Given the description of an element on the screen output the (x, y) to click on. 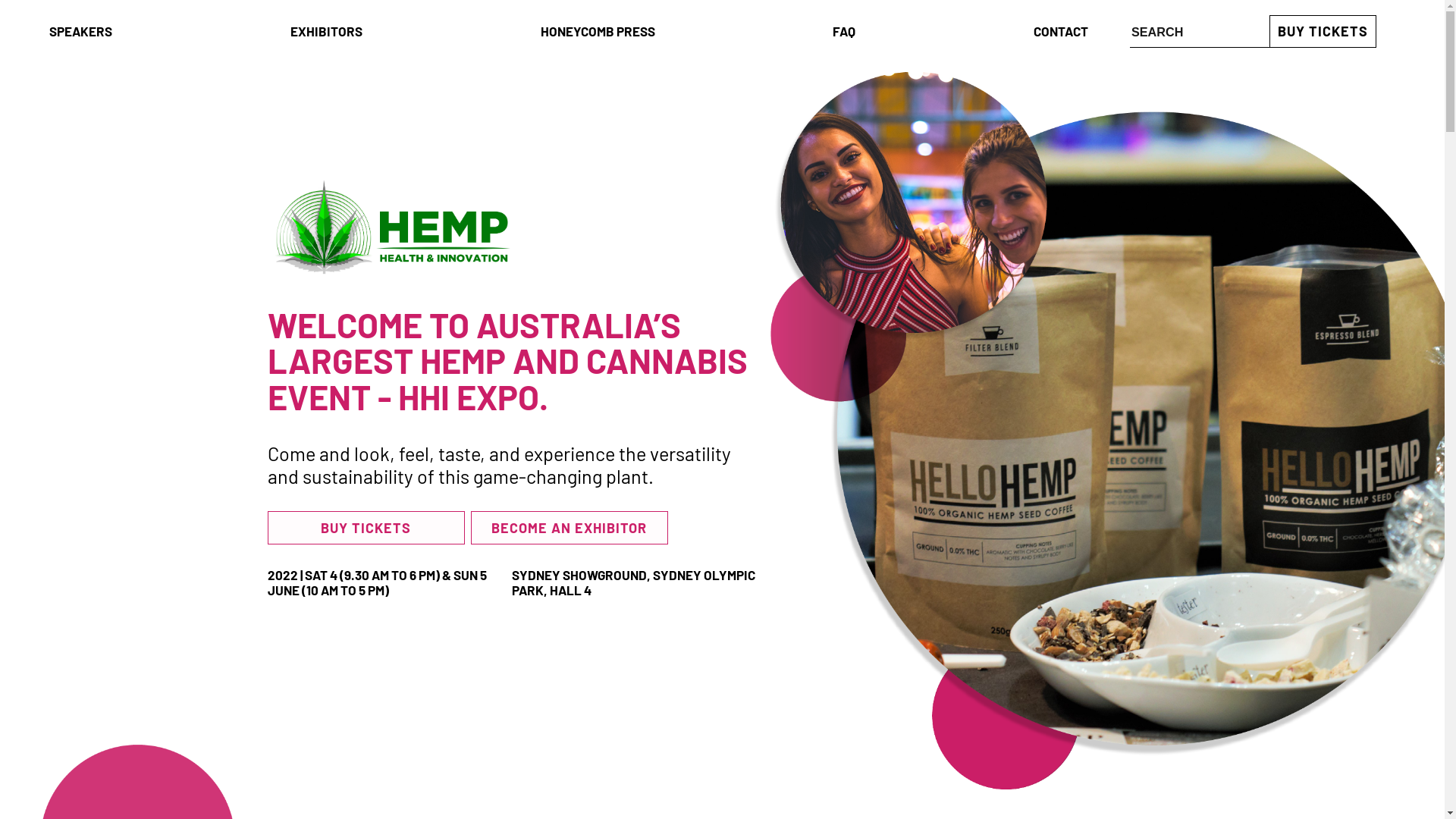
FAQ Element type: text (843, 31)
BECOME AN EXHIBITOR Element type: text (568, 527)
HONEYCOMB PRESS Element type: text (596, 31)
SPEAKERS Element type: text (80, 31)
CONTACT Element type: text (1060, 31)
BUY TICKETS Element type: text (1322, 31)
BUY TICKETS Element type: text (365, 527)
EXHIBITORS Element type: text (326, 31)
